Given the description of an element on the screen output the (x, y) to click on. 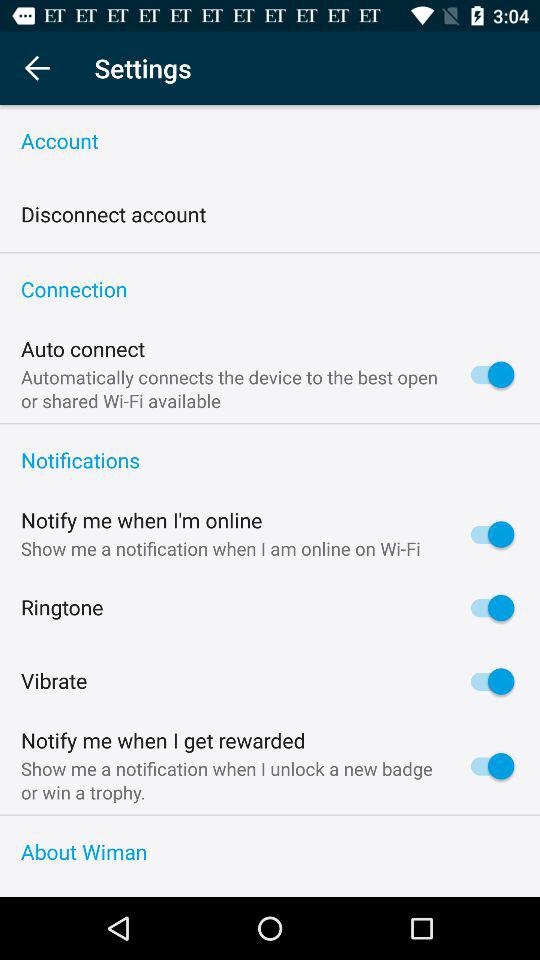
launch the disconnect account item (113, 214)
